Given the description of an element on the screen output the (x, y) to click on. 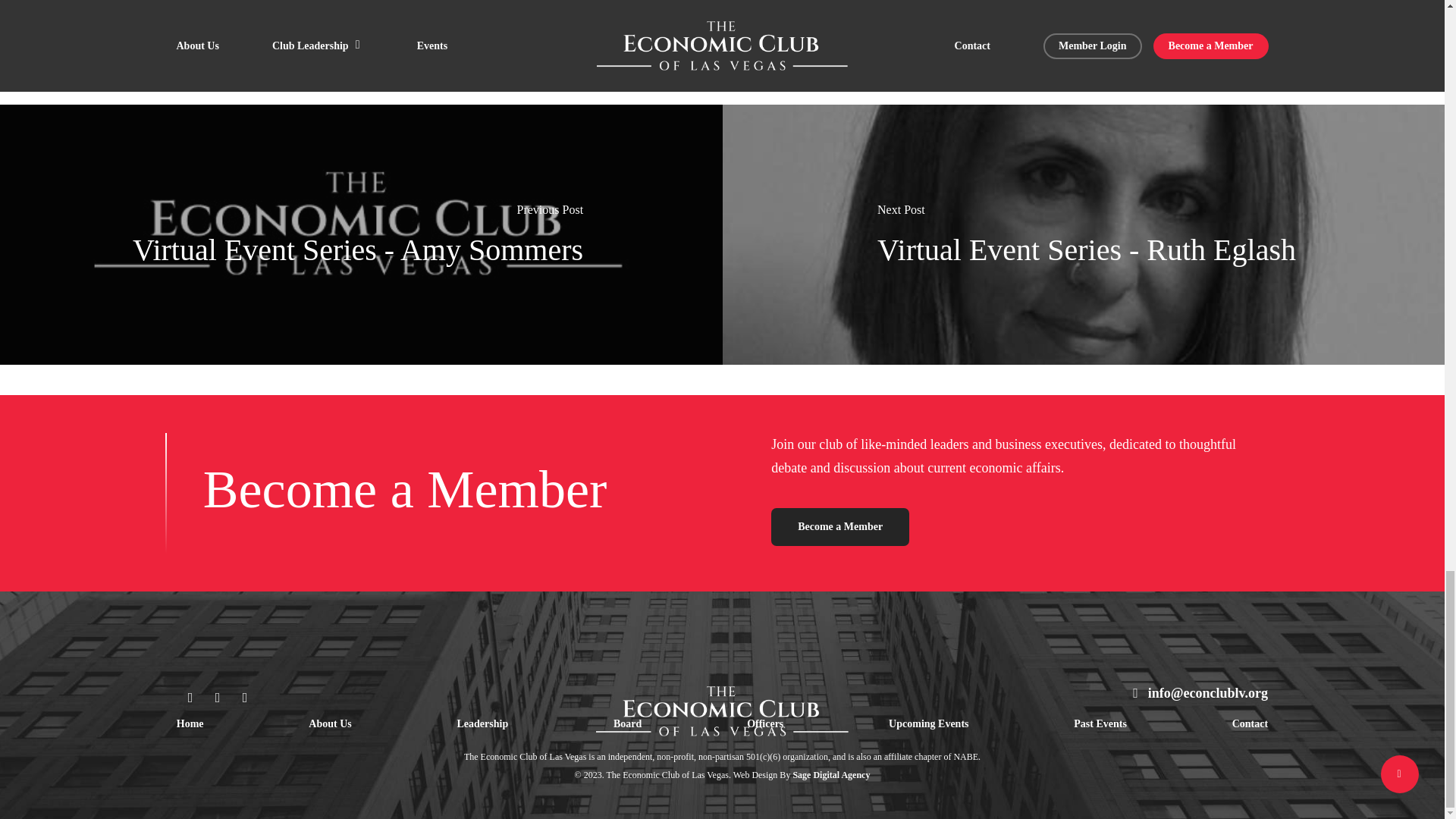
Leadership (482, 723)
Past Events (1100, 723)
About Us (329, 723)
Officers (764, 723)
Upcoming Events (928, 723)
Board (627, 723)
Contact (1249, 723)
Home (189, 723)
Become a Member (839, 526)
